Given the description of an element on the screen output the (x, y) to click on. 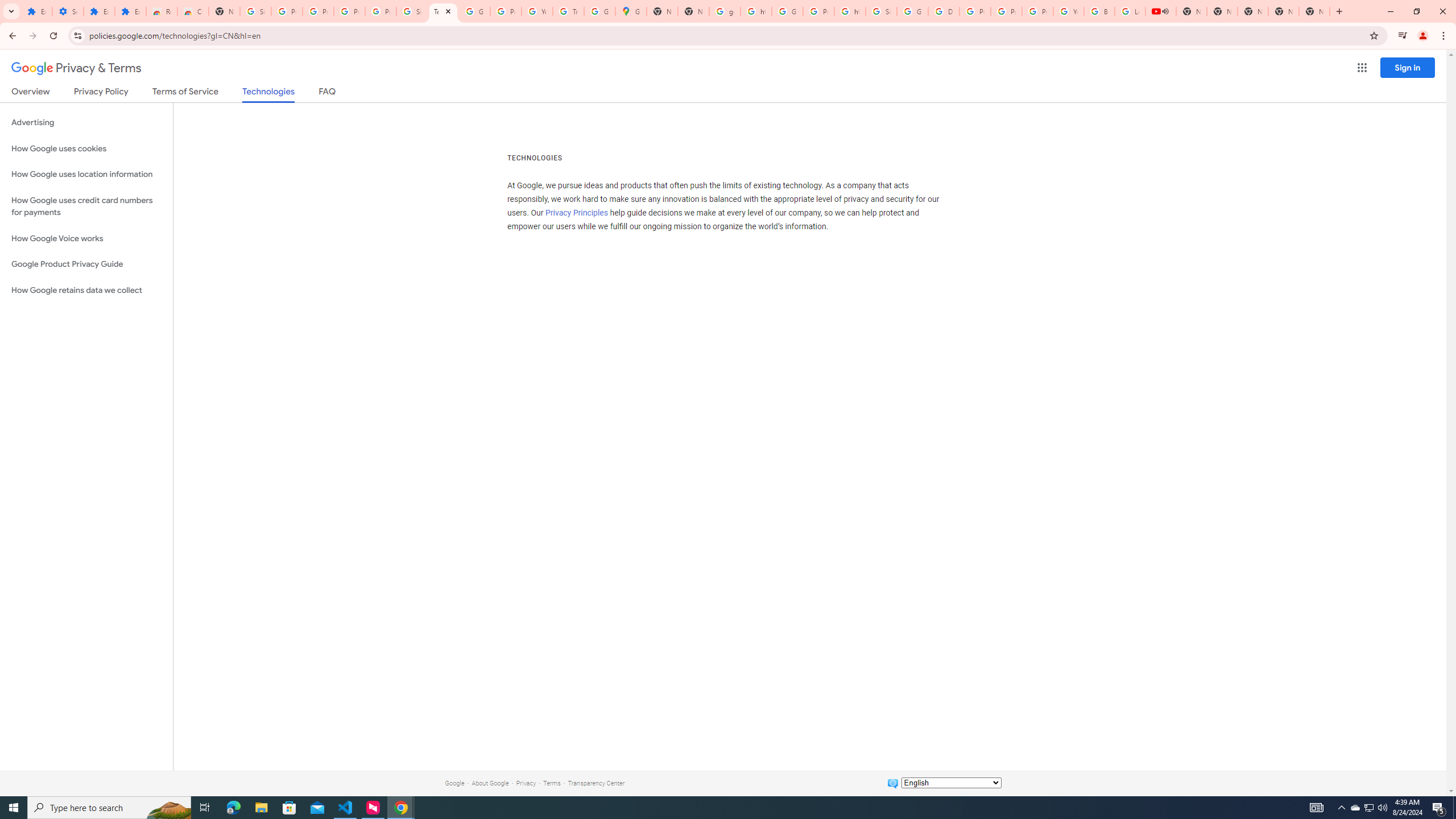
Google Product Privacy Guide (86, 264)
How Google retains data we collect (86, 289)
About Google (490, 783)
How Google uses location information (86, 174)
Privacy Help Center - Policies Help (974, 11)
New Tab (1314, 11)
